Given the description of an element on the screen output the (x, y) to click on. 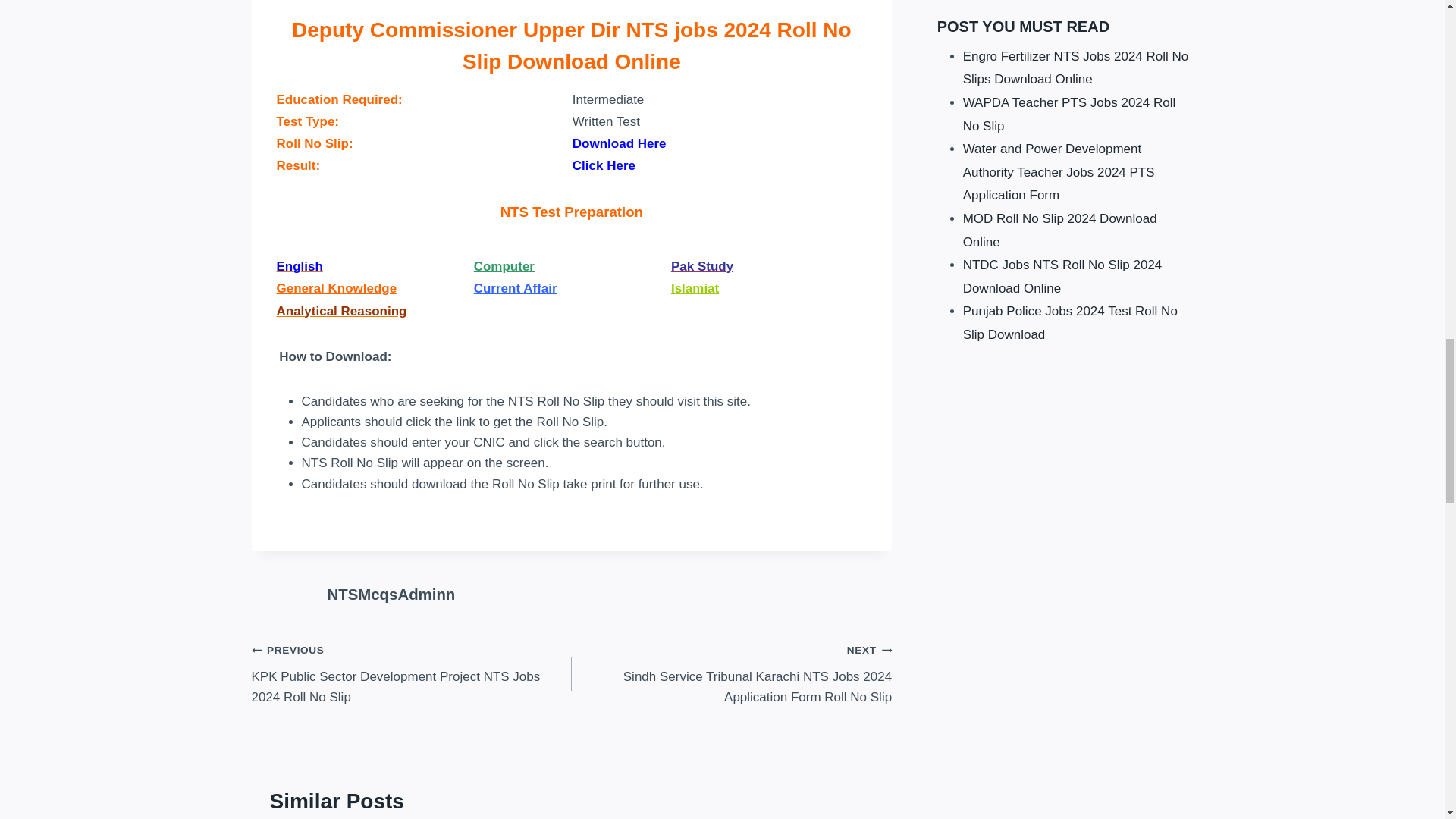
Click Here (603, 165)
NTSMcqsAdminn (391, 594)
Posts by NTSMcqsAdminn (391, 594)
English (298, 266)
Computer (504, 266)
Islamiat (695, 288)
General Knowledge (336, 288)
Pak Study (702, 266)
Analytical Reasoning (341, 310)
Current Affair (515, 288)
Download Here (619, 143)
